Given the description of an element on the screen output the (x, y) to click on. 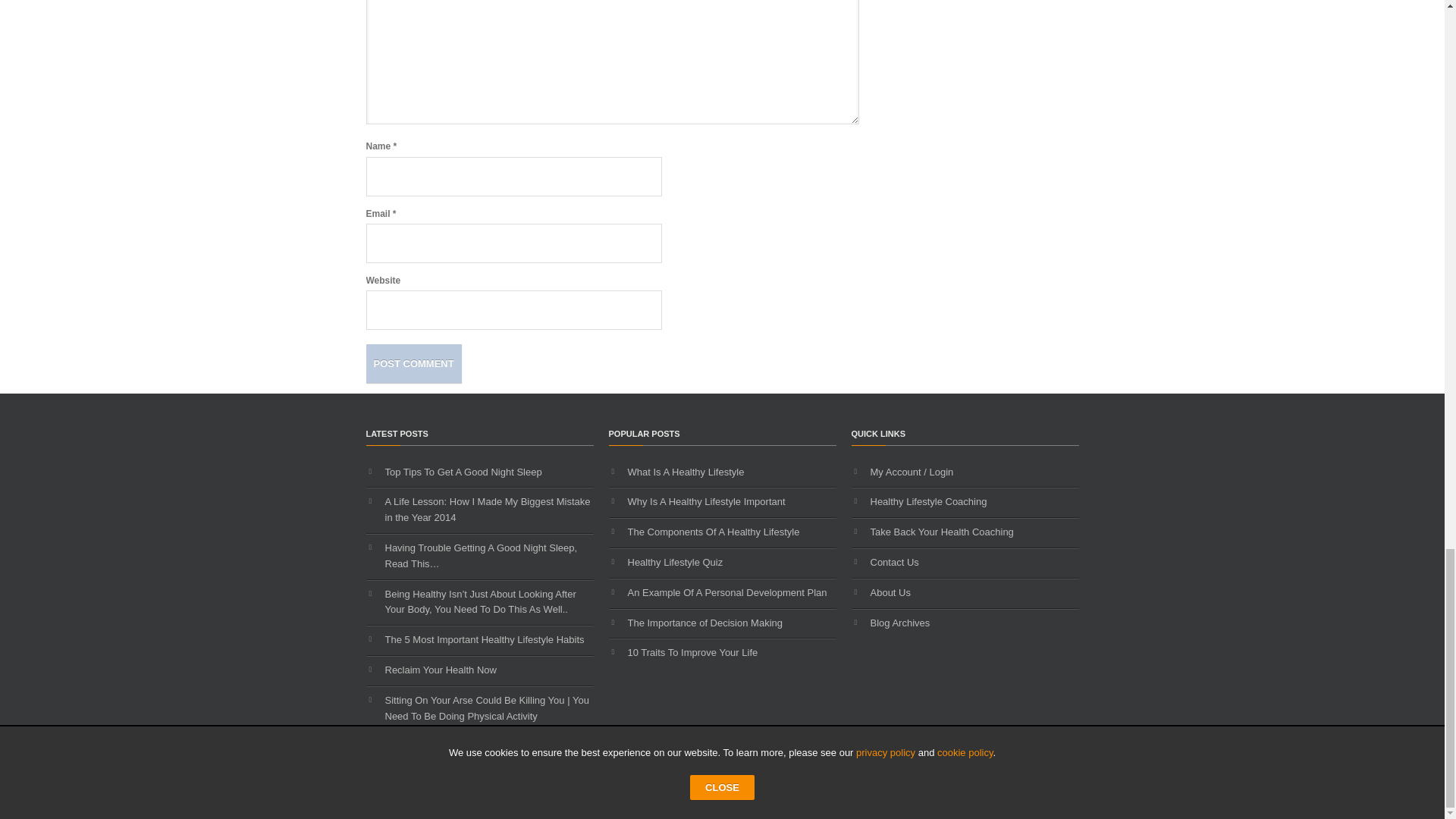
Why Is A Healthy Lifestyle Important (706, 501)
The Components Of A Healthy Lifestyle (713, 531)
Post Comment (413, 363)
An Example Of A Personal Development Plan (727, 592)
Healthy Lifestyle Quiz (675, 562)
What Is A Healthy Lifestyle (685, 471)
The Importance of Decision Making (705, 622)
